Given the description of an element on the screen output the (x, y) to click on. 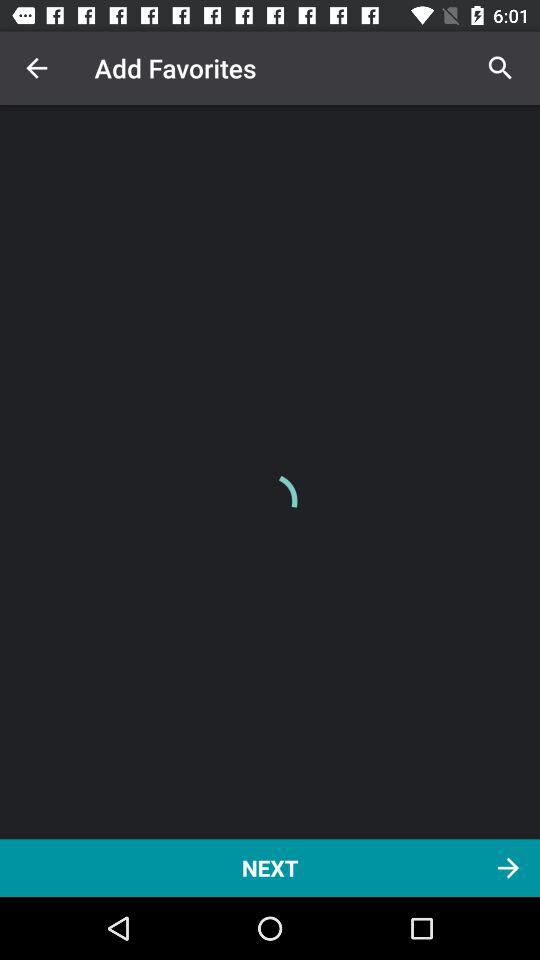
open the item above the next (36, 68)
